Given the description of an element on the screen output the (x, y) to click on. 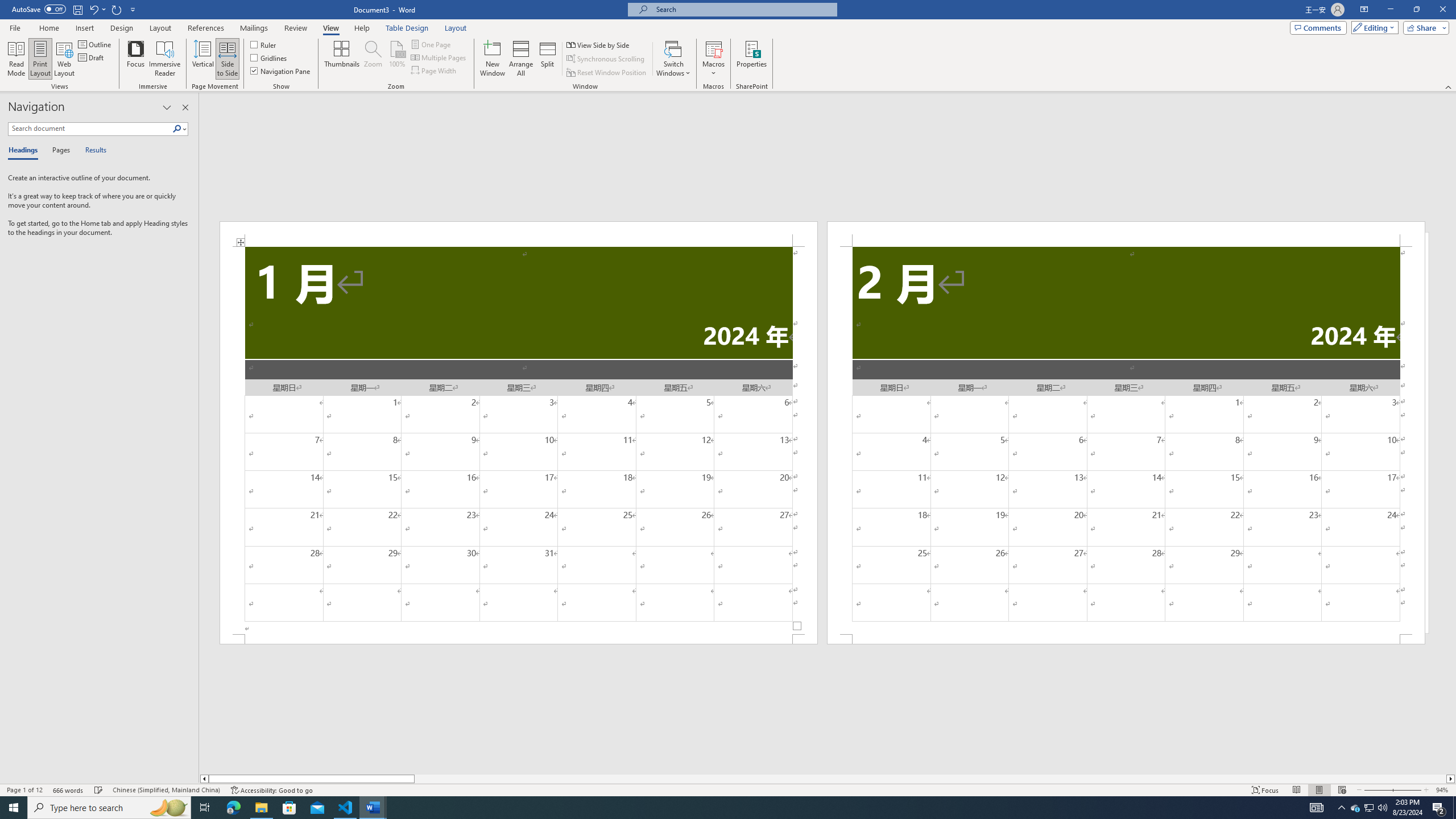
Page 1 content (518, 439)
New Window (492, 58)
Properties (751, 58)
Column right (1450, 778)
Ruler (263, 44)
Header -Section 2- (1126, 233)
